Given the description of an element on the screen output the (x, y) to click on. 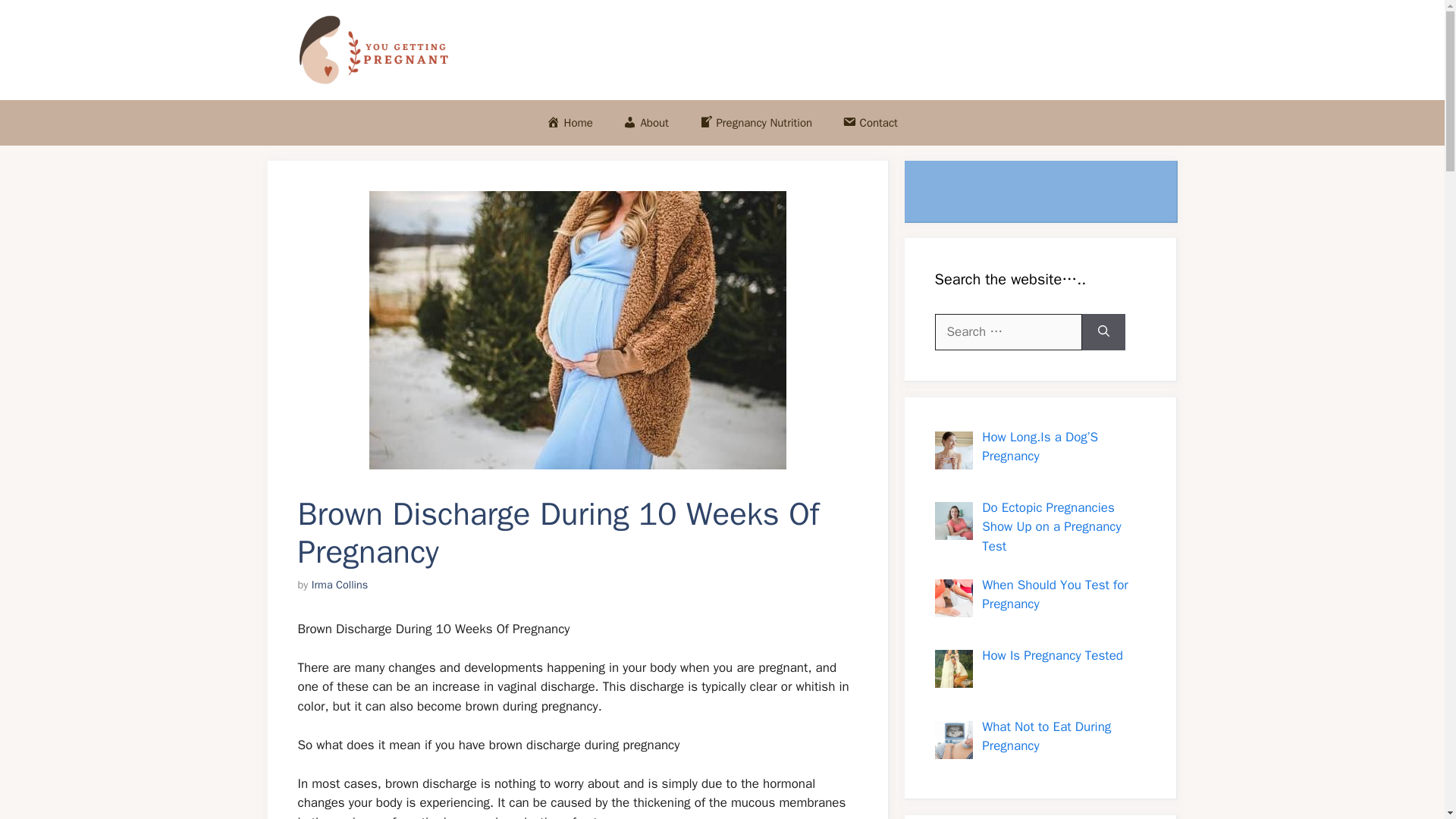
Brown Discharge During 10 Weeks Of Pregnancy (577, 329)
Contact (869, 122)
Irma Collins (339, 584)
Home (569, 122)
View all posts by Irma Collins (339, 584)
About (646, 122)
Pregnancy Nutrition (755, 122)
